Given the description of an element on the screen output the (x, y) to click on. 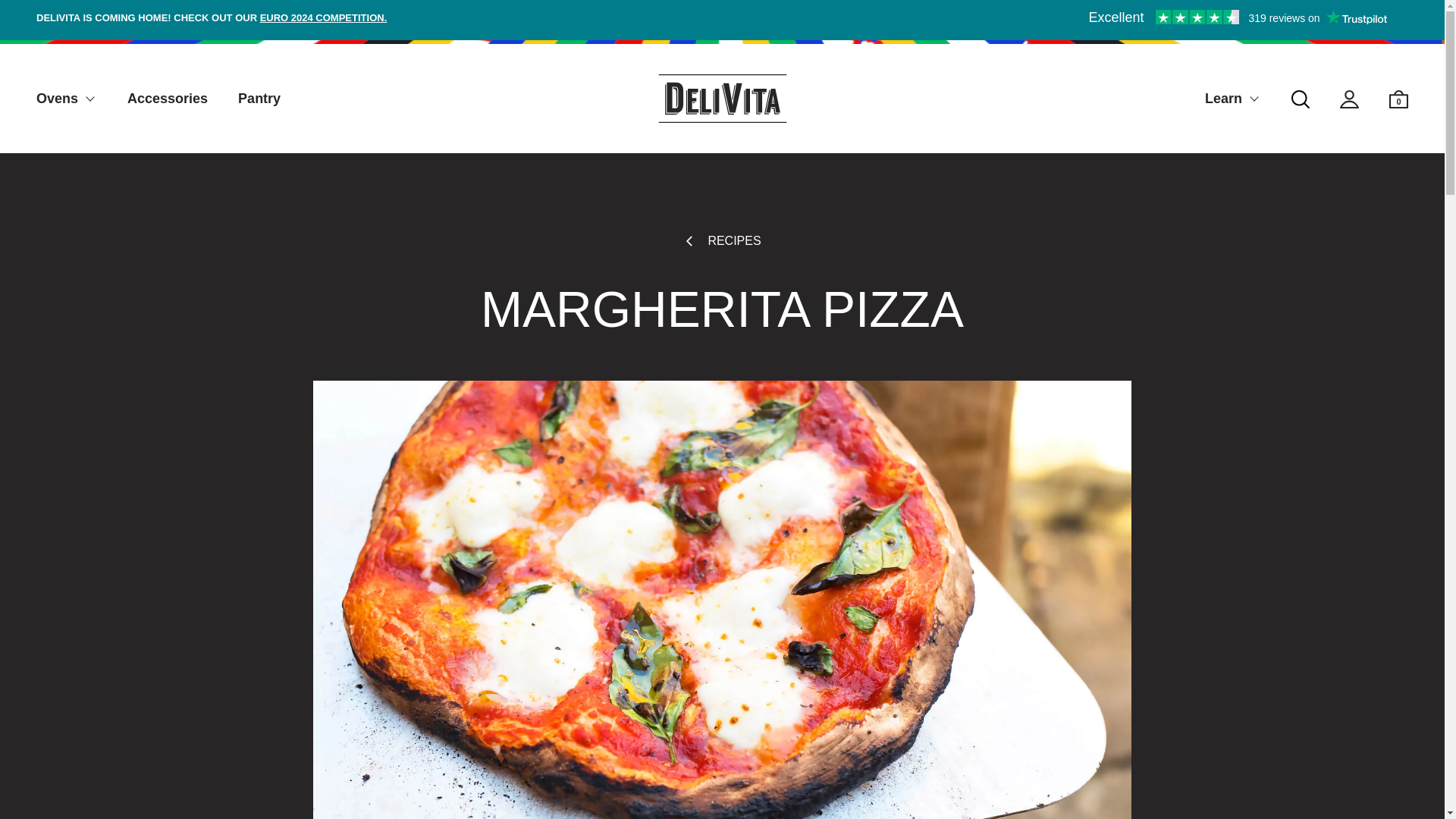
Learn (1232, 98)
RECIPES (721, 240)
Ovens (66, 98)
Accessories (168, 98)
Customer reviews powered by Trustpilot (1237, 16)
EURO 2024 COMPETITION. (323, 17)
